Given the description of an element on the screen output the (x, y) to click on. 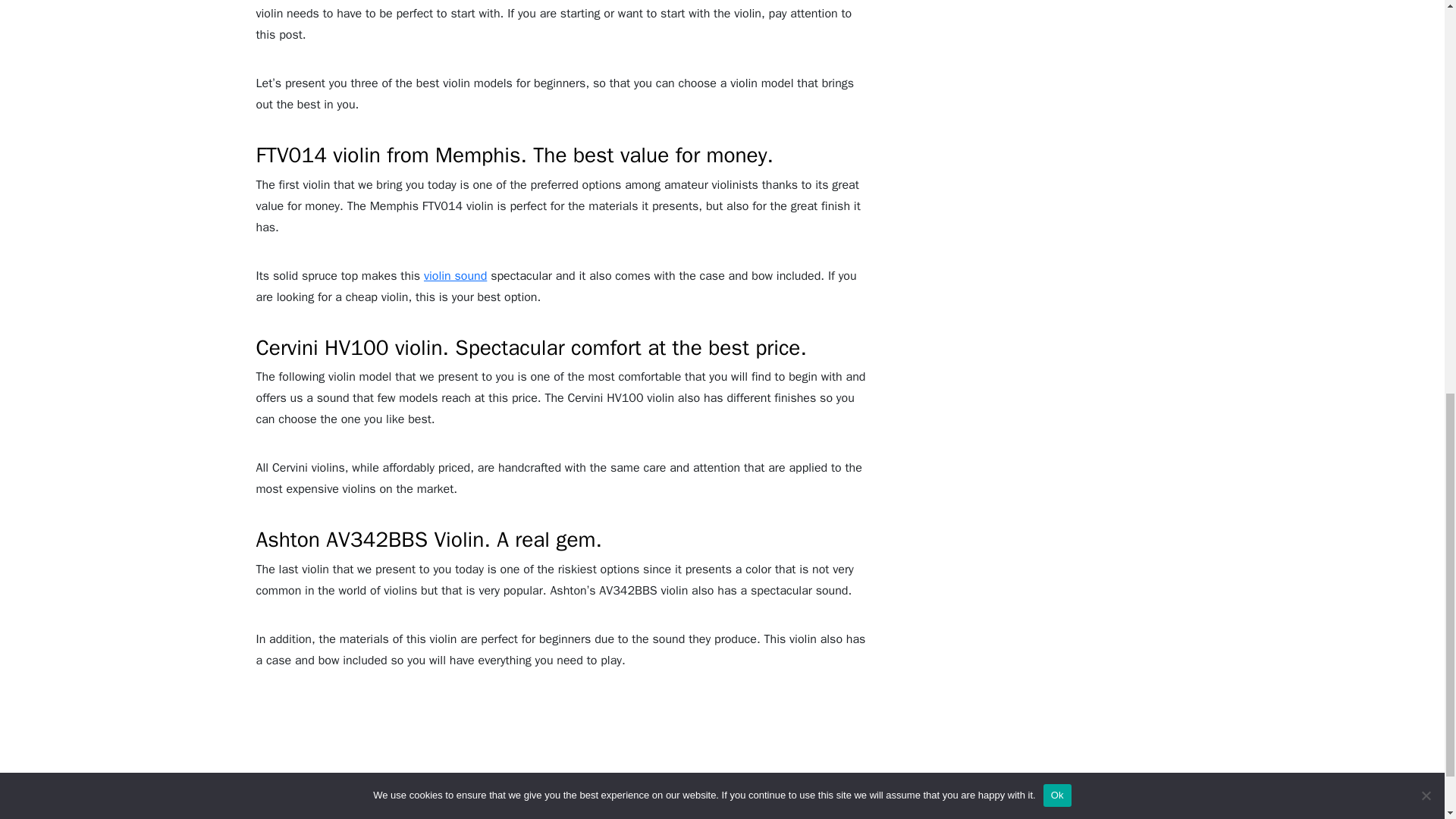
Finance (595, 815)
Business (657, 815)
Home (429, 815)
About (479, 815)
Contact (1009, 815)
Disclaimer (942, 815)
violin sound (454, 275)
Privacy Policy (737, 815)
Lifestyle (534, 815)
